Given the description of an element on the screen output the (x, y) to click on. 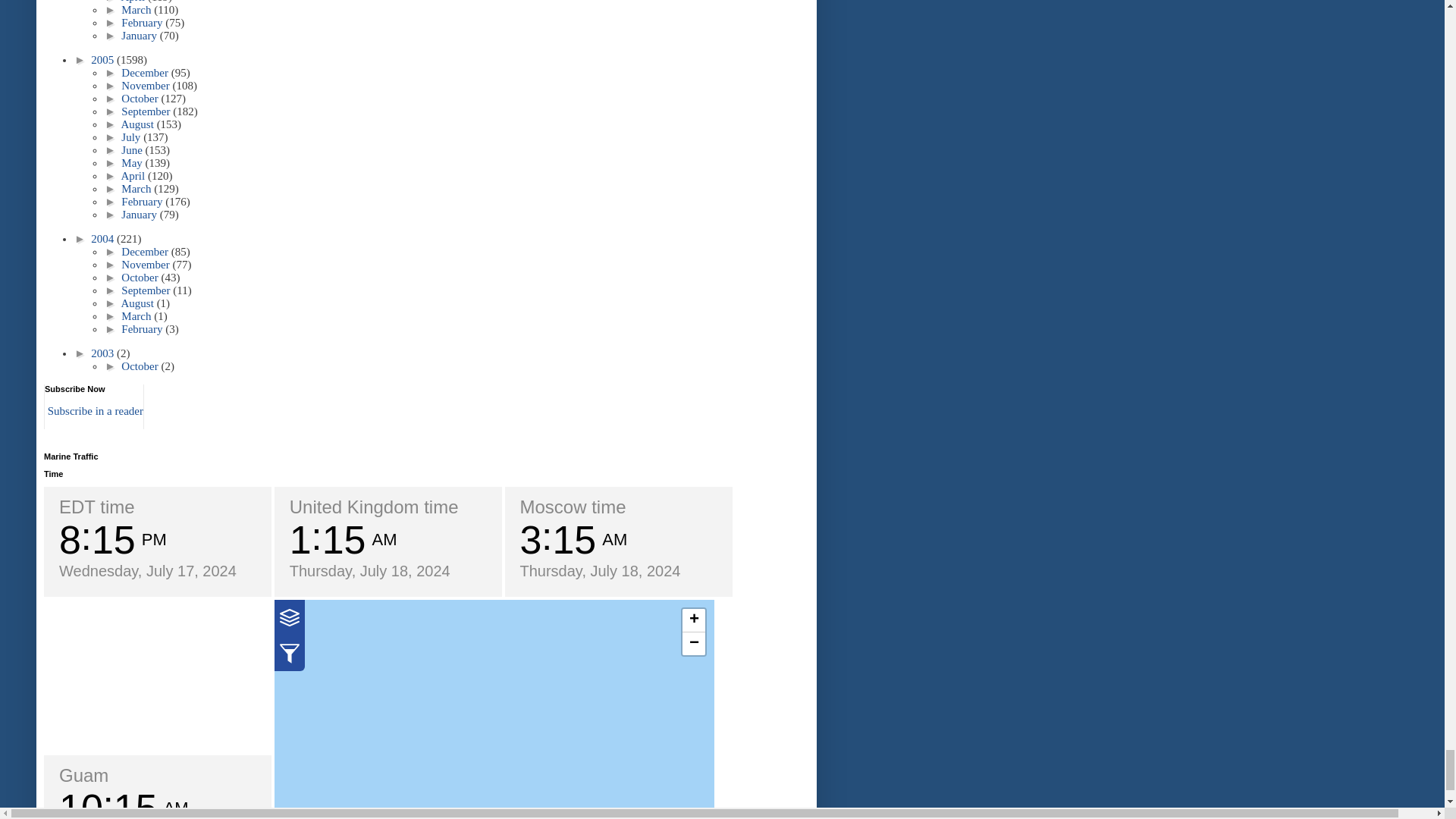
actual time United Kingdom (373, 506)
Time - Moscow (572, 506)
EDT local time (97, 506)
Guam current time (83, 774)
